Given the description of an element on the screen output the (x, y) to click on. 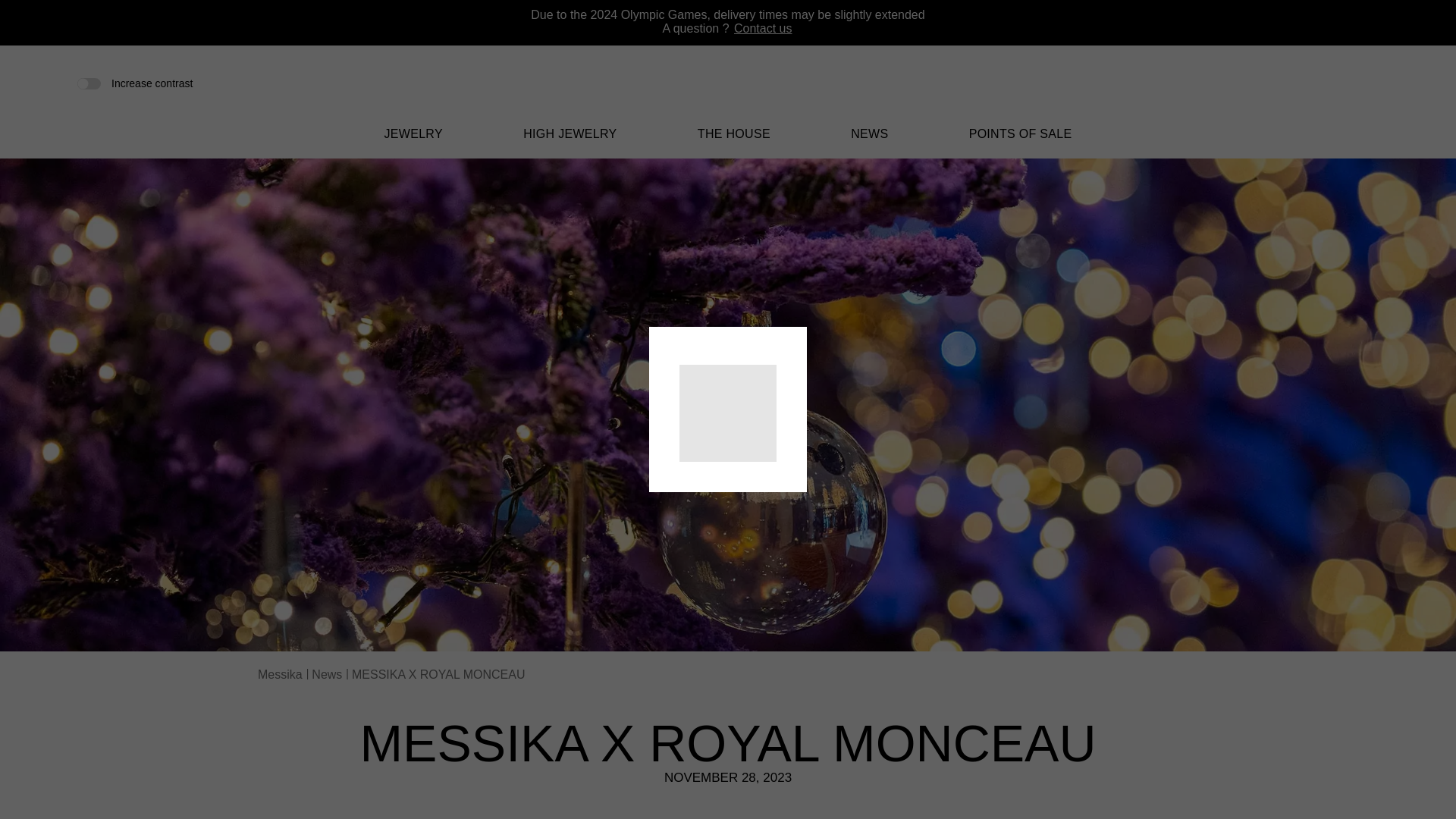
Shopping Cart (1360, 84)
Contact us (762, 28)
on (88, 82)
Wishlist (1335, 83)
Messika (727, 103)
JEWELRY (413, 142)
Wishlist (1335, 84)
Search (1310, 84)
Messika (727, 92)
